Given the description of an element on the screen output the (x, y) to click on. 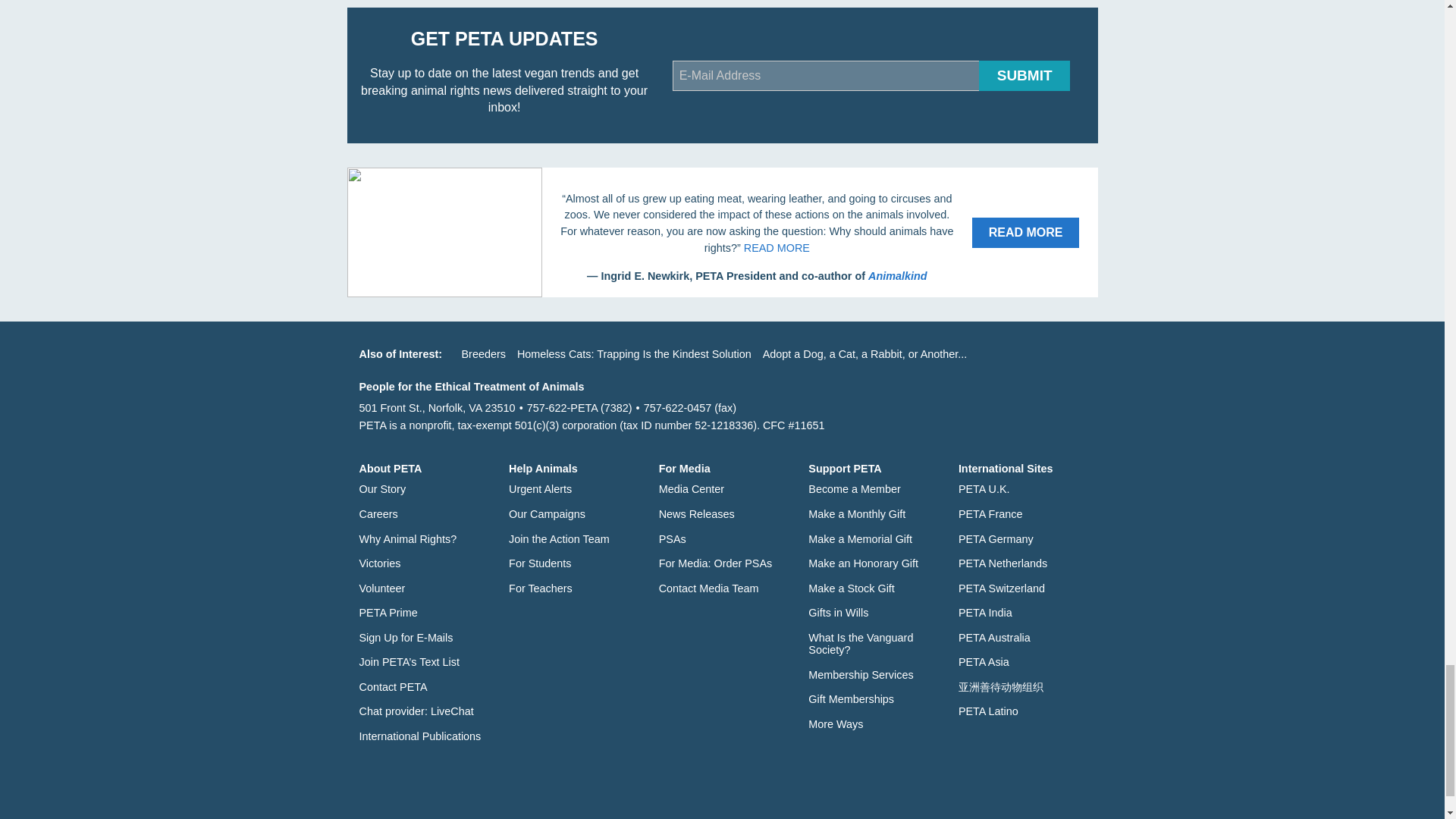
Submit (1024, 75)
